Given the description of an element on the screen output the (x, y) to click on. 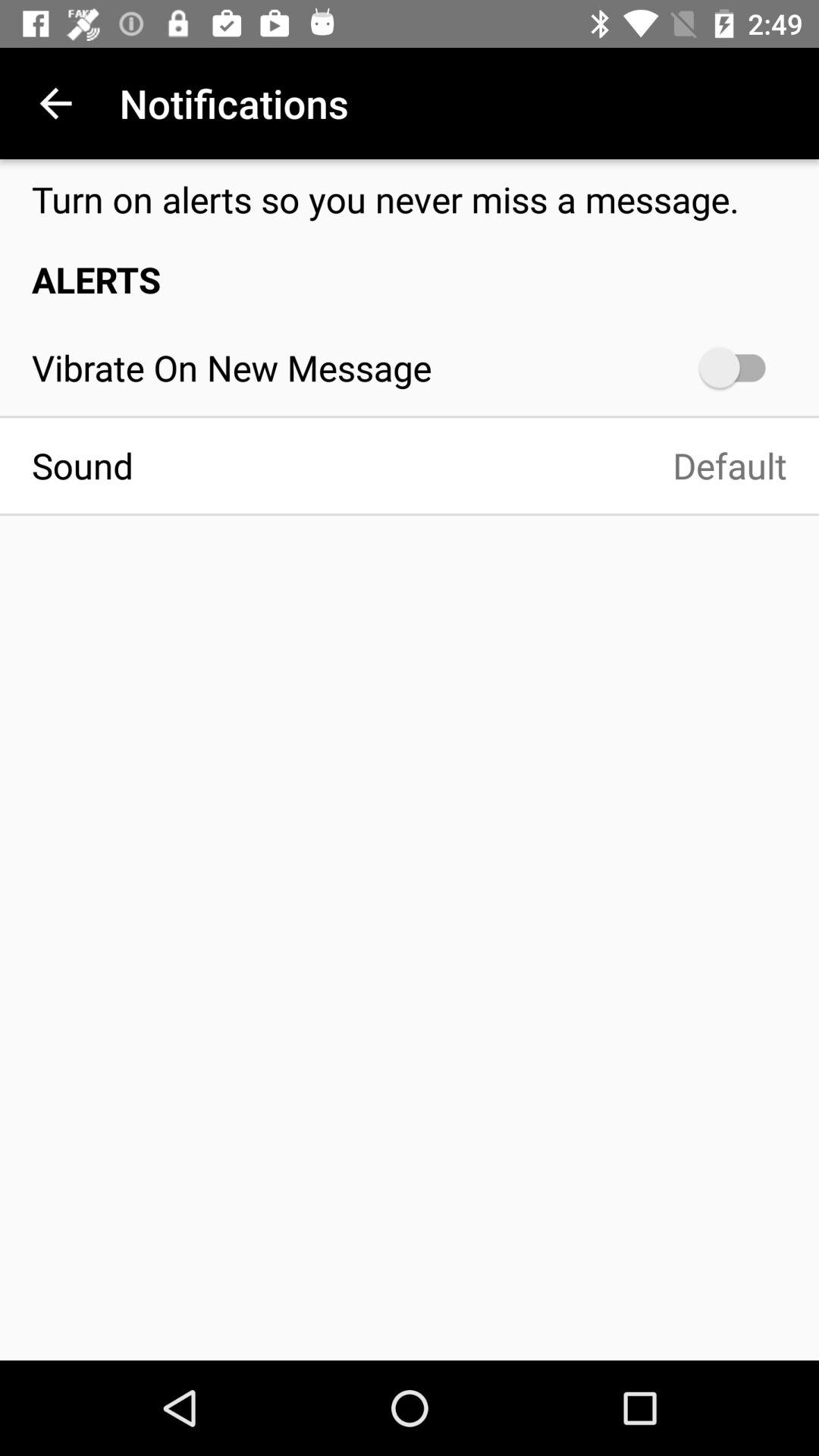
choose the icon above turn on alerts icon (55, 103)
